Given the description of an element on the screen output the (x, y) to click on. 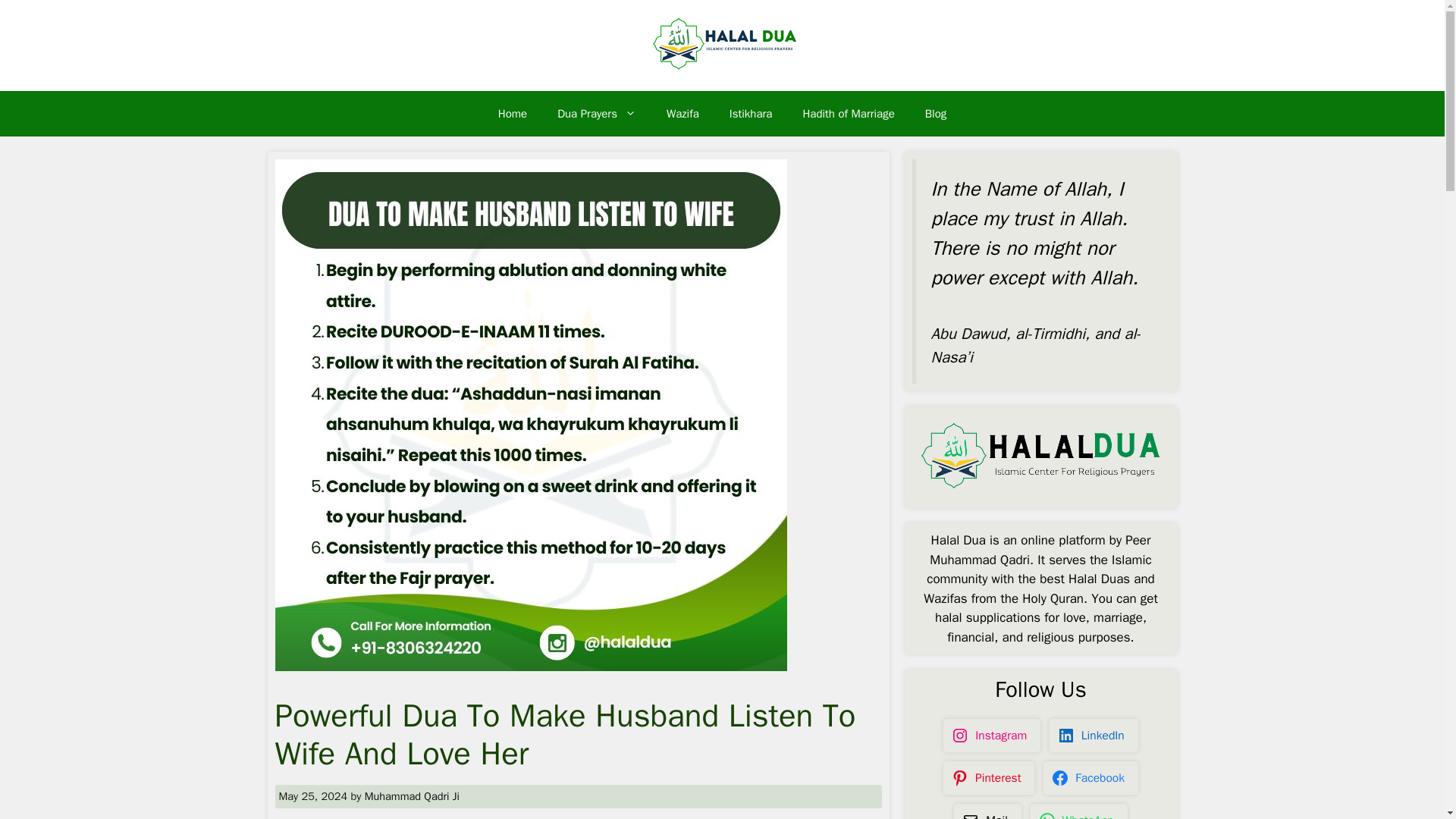
Facebook (1090, 778)
Pinterest (988, 778)
LinkedIn (1094, 735)
Blog (935, 113)
Dua Prayers (595, 113)
Home (512, 113)
Hadith of Marriage (847, 113)
Instagram (991, 735)
Muhammad Qadri Ji (412, 796)
Istikhara (750, 113)
View all posts by Muhammad Qadri Ji (412, 796)
Wazifa (682, 113)
